Given the description of an element on the screen output the (x, y) to click on. 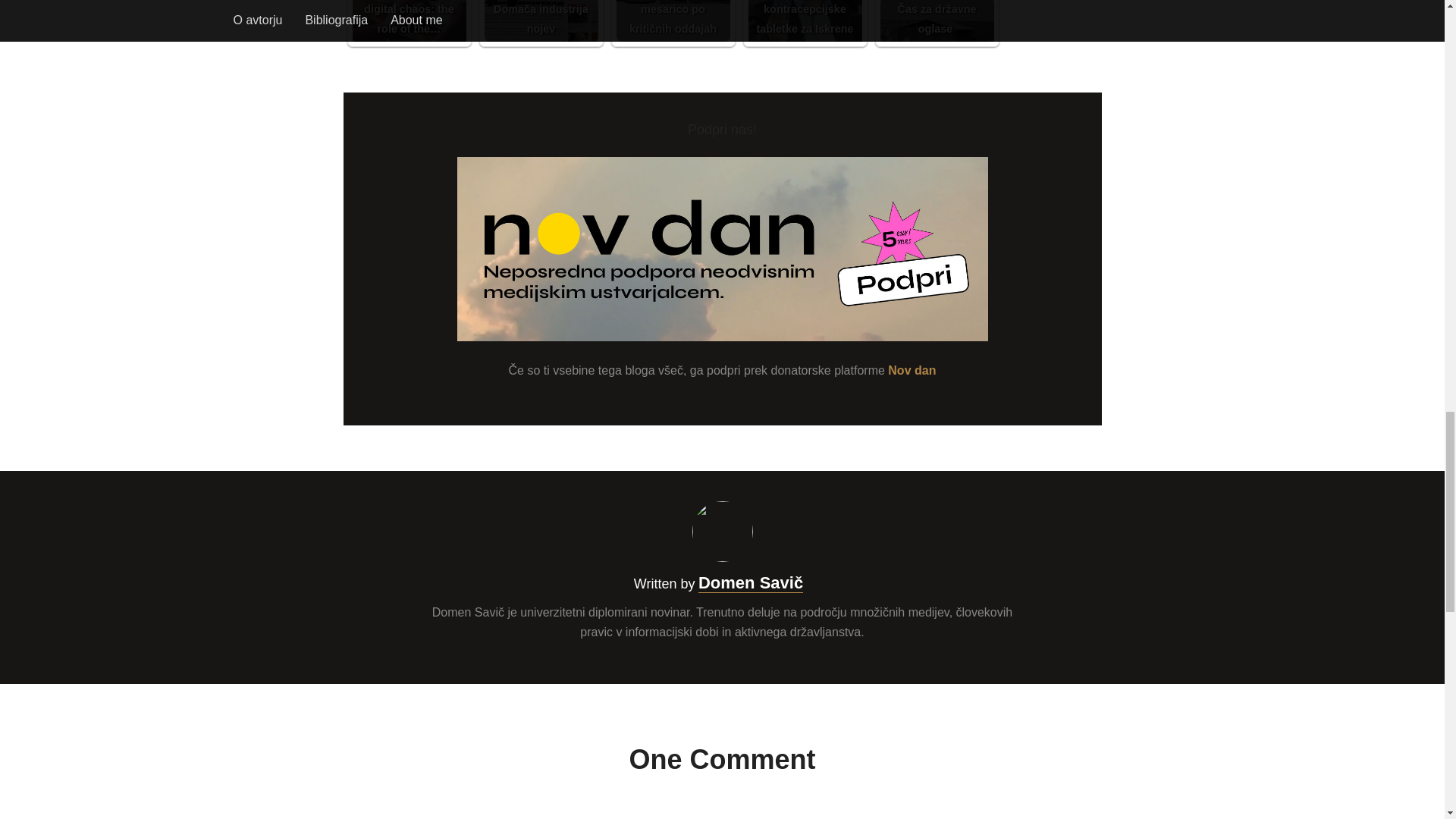
Orbanove kontracepcijske tabletke za Iskrene (804, 20)
